Given the description of an element on the screen output the (x, y) to click on. 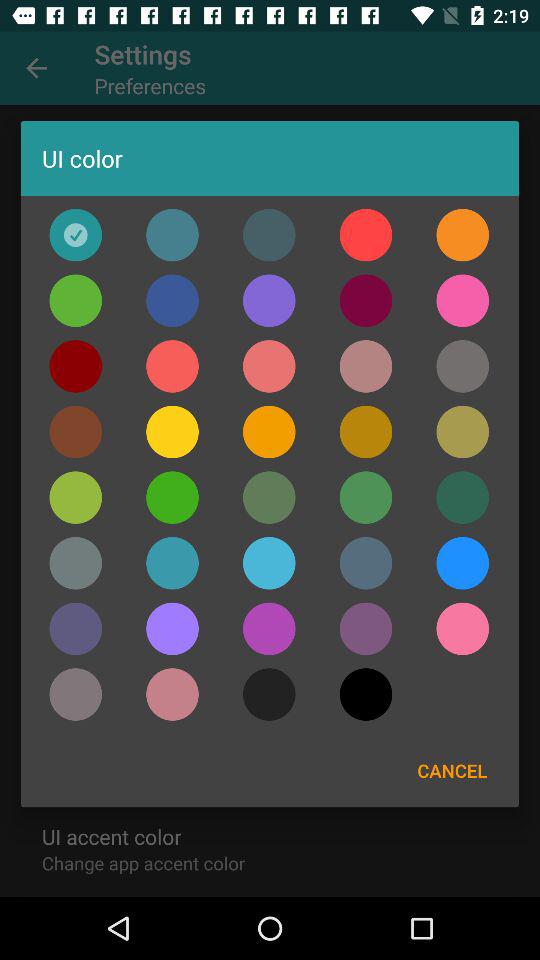
ui color (462, 628)
